Given the description of an element on the screen output the (x, y) to click on. 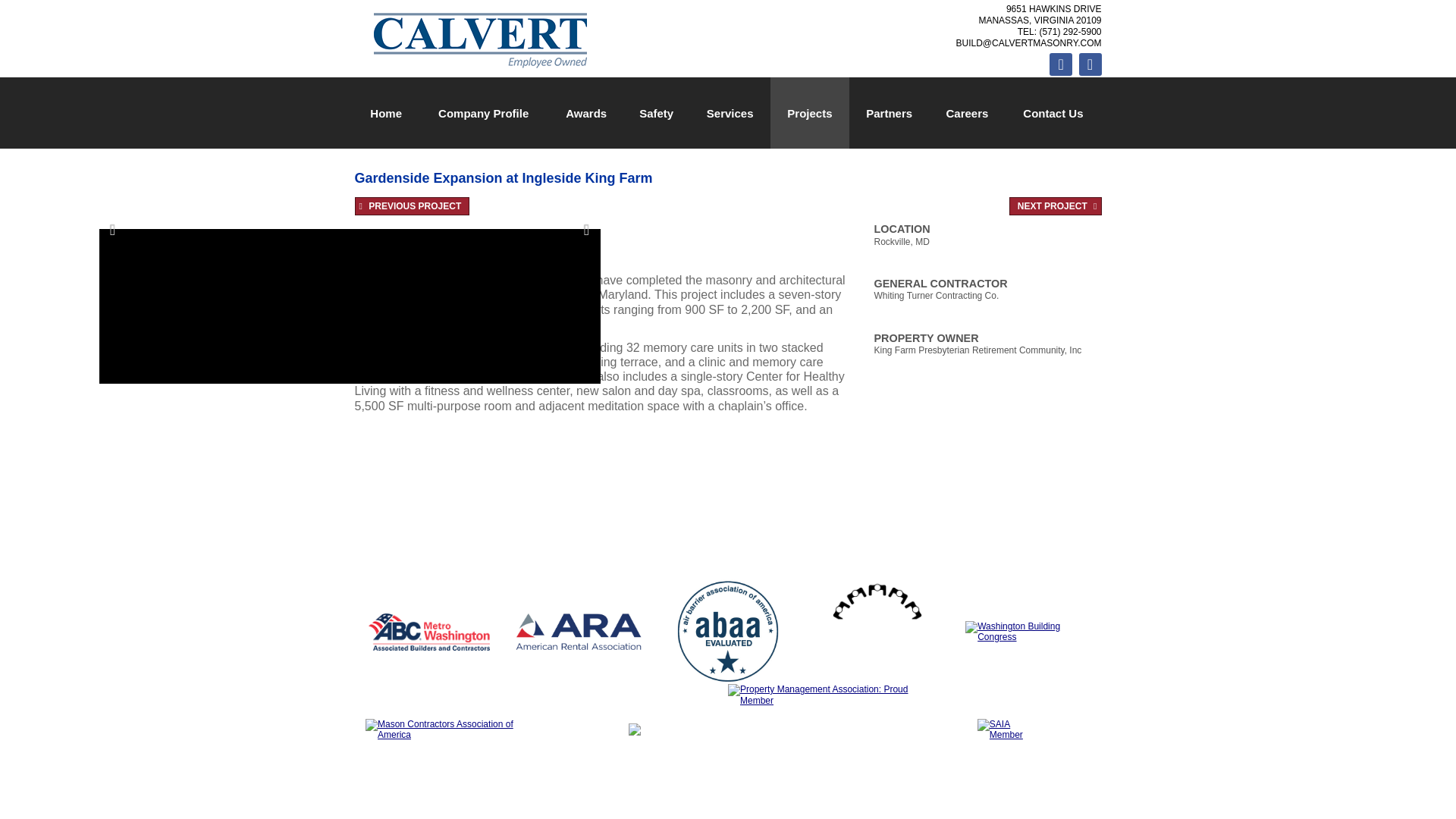
Partners (889, 112)
Projects (809, 112)
Services (729, 112)
Safety (655, 112)
Awards (585, 112)
NEXT PROJECT (1055, 206)
Company Profile (483, 112)
PREVIOUS PROJECT (412, 206)
Careers (968, 112)
Contact Us (1052, 112)
